Given the description of an element on the screen output the (x, y) to click on. 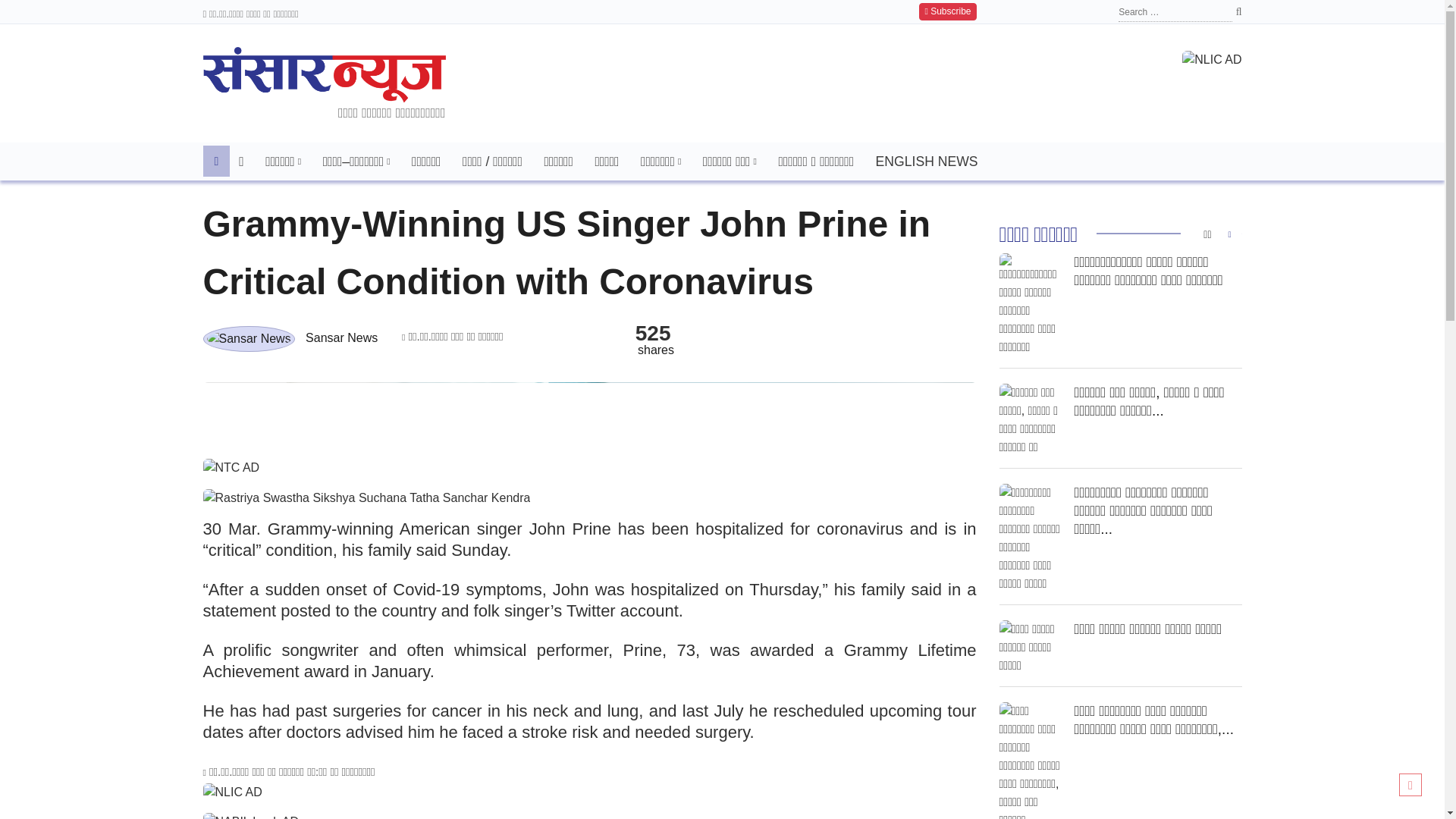
NABIL bank AD (251, 816)
Rastriya Swastha Sikshya Suchana Tatha Sanchar Kendra (367, 497)
Subscribe (946, 11)
Sansar News (249, 338)
NLIC AD (1211, 59)
NTC AD (231, 467)
logo (324, 74)
RBB AD (589, 414)
NLIC AD (232, 791)
